Given the description of an element on the screen output the (x, y) to click on. 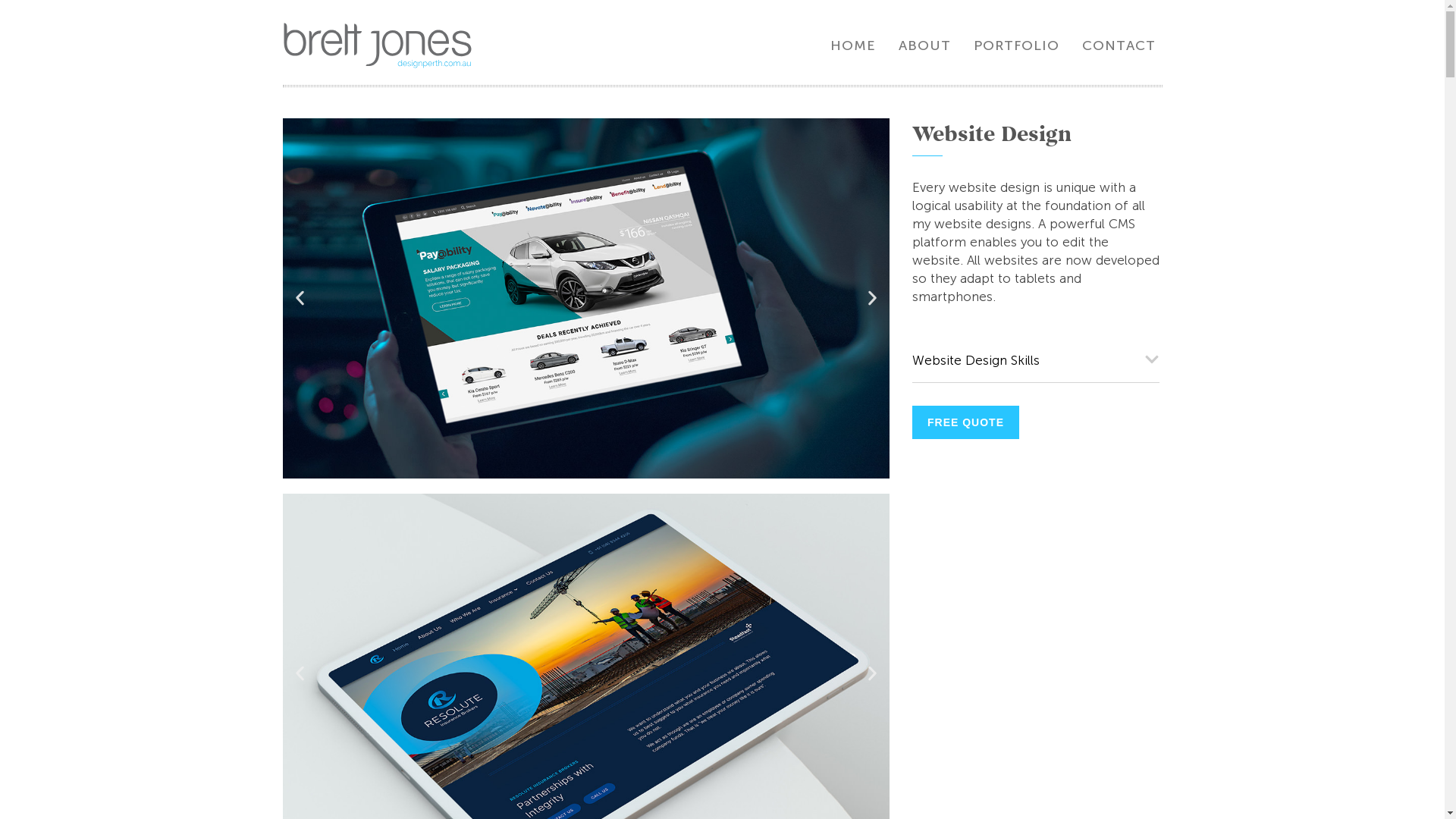
ABOUT Element type: text (924, 45)
CONTACT Element type: text (1118, 45)
HOME Element type: text (852, 45)
FREE QUOTE Element type: text (964, 422)
Website Design Skills Element type: text (974, 360)
PORTFOLIO Element type: text (1016, 45)
